Given the description of an element on the screen output the (x, y) to click on. 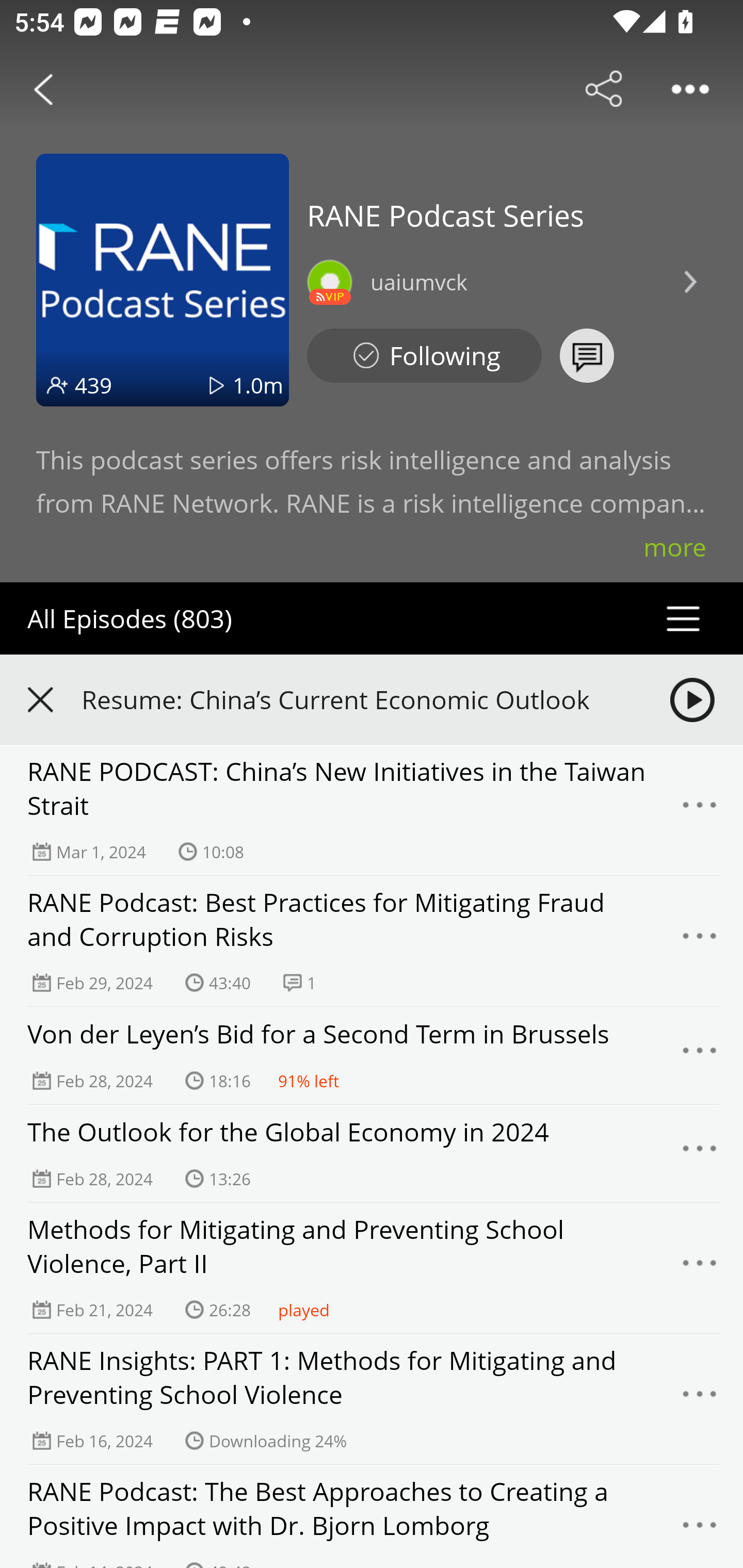
Back (43, 88)
Podbean Following (423, 355)
439 (93, 384)
more (674, 546)
Resume: China’s Current Economic Outlook (371, 698)
Resume: China’s Current Economic Outlook (357, 698)
Menu (699, 809)
Menu (699, 941)
Menu (699, 1055)
Menu (699, 1153)
Menu (699, 1268)
Menu (699, 1399)
Menu (699, 1527)
